Given the description of an element on the screen output the (x, y) to click on. 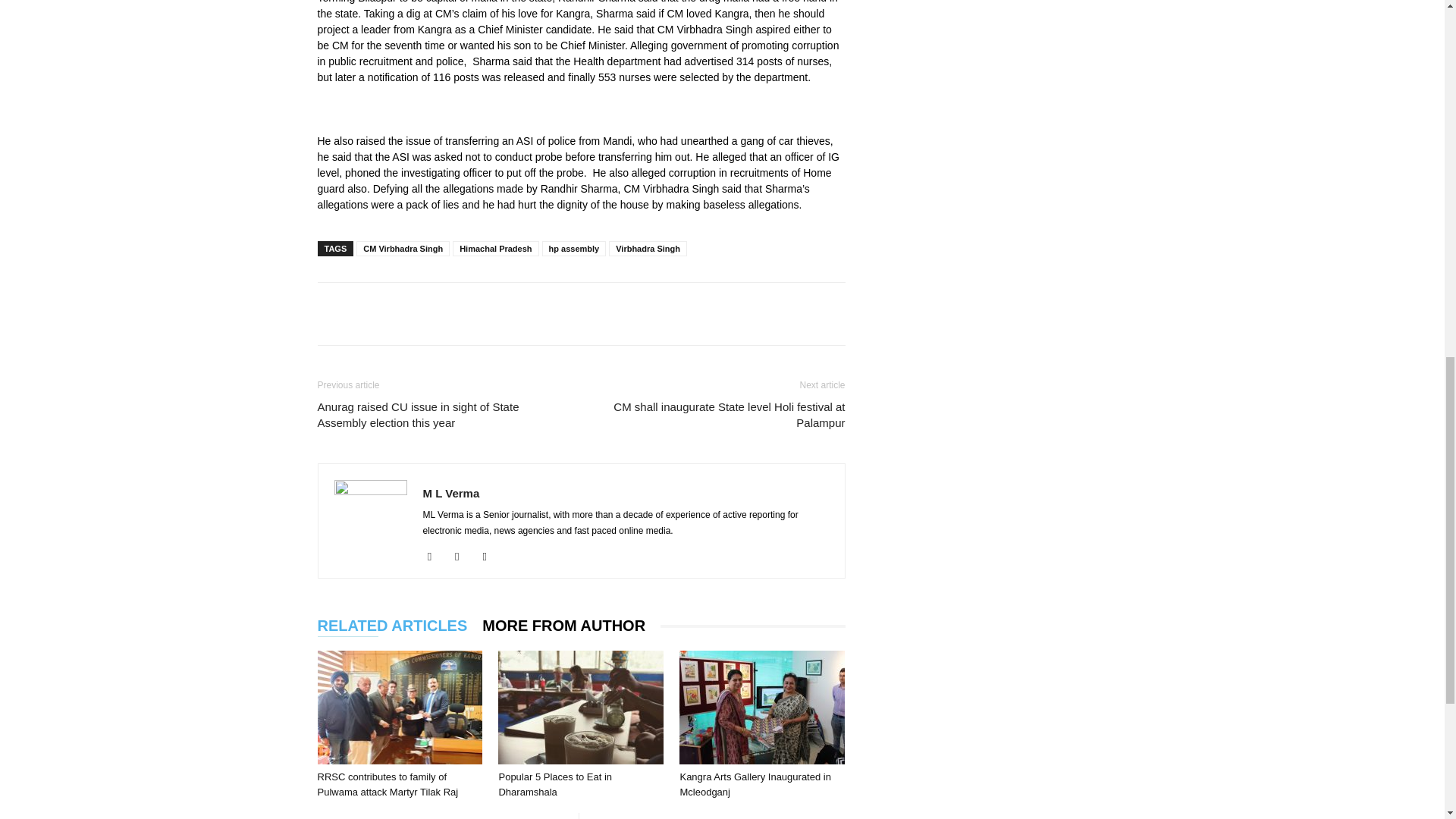
M L Verma (451, 492)
CM shall inaugurate State level Holi festival at Palampur (721, 414)
Himachal Pradesh (495, 248)
Virbhadra Singh (647, 248)
hp assembly (574, 248)
CM Virbhadra Singh (402, 248)
